Given the description of an element on the screen output the (x, y) to click on. 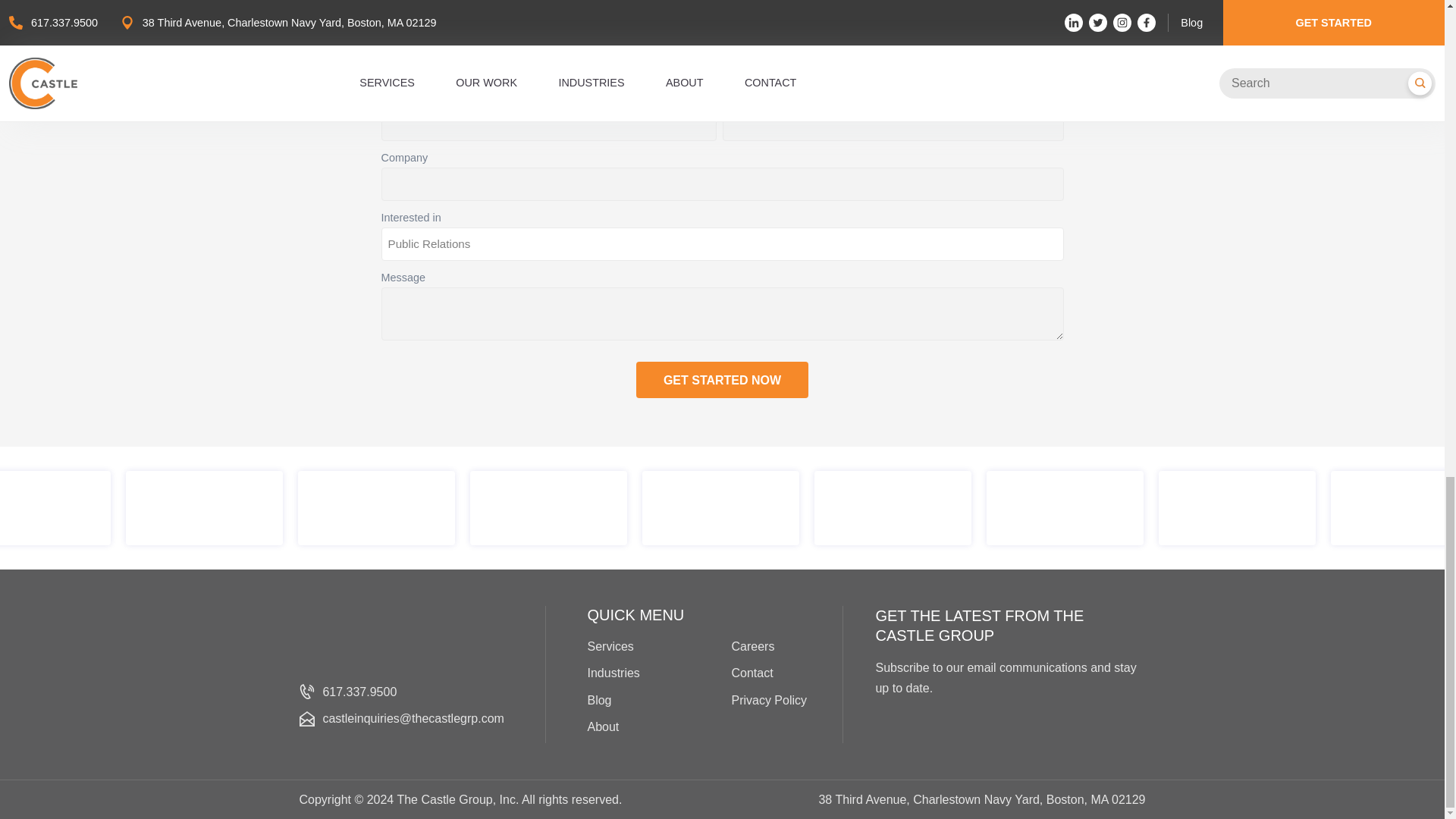
GET STARTED NOW (722, 379)
